Given the description of an element on the screen output the (x, y) to click on. 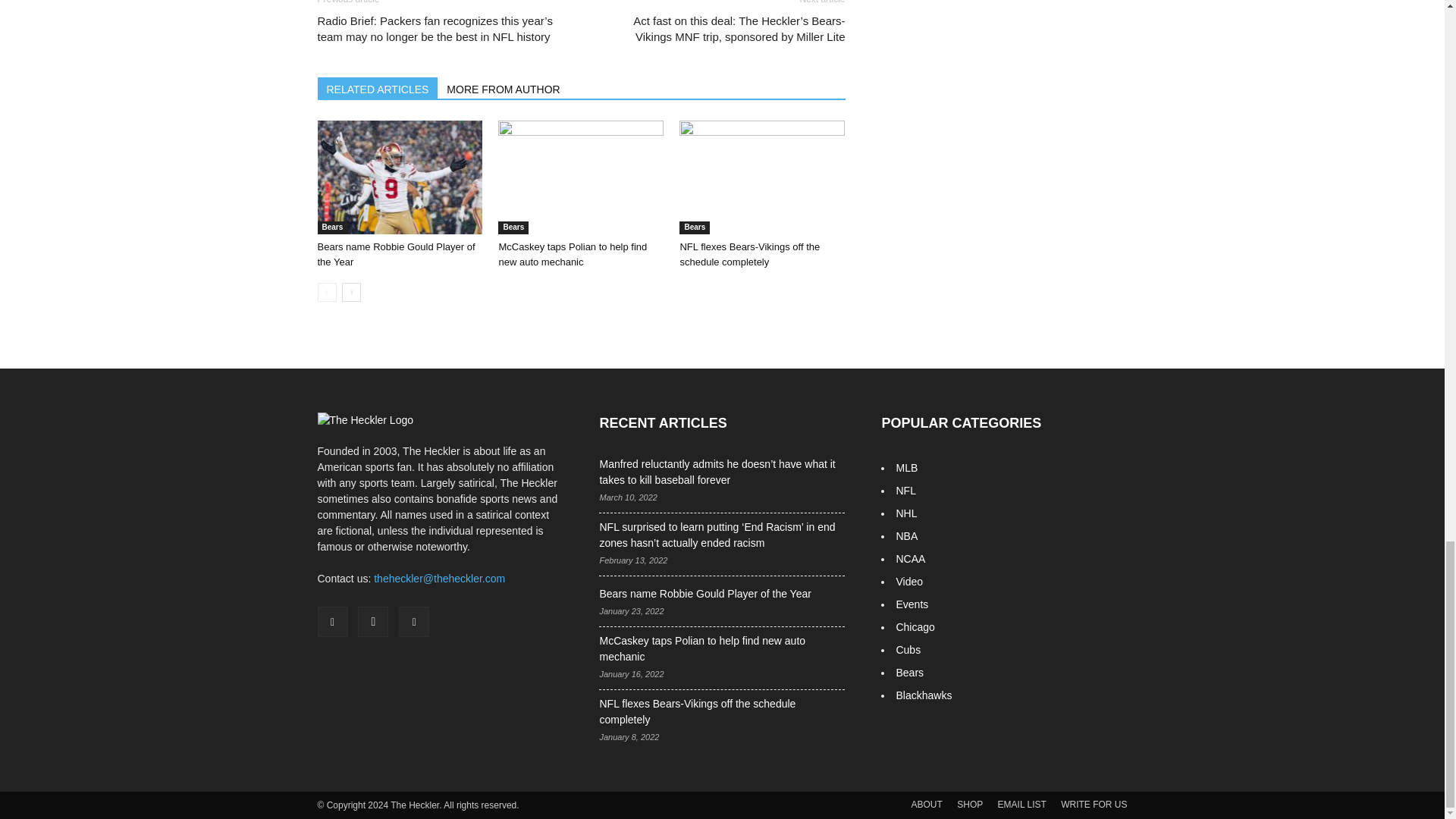
McCaskey taps Polian to help find new auto mechanic (580, 177)
Bears name Robbie Gould Player of the Year (399, 177)
McCaskey taps Polian to help find new auto mechanic (571, 253)
Bears name Robbie Gould Player of the Year (395, 253)
